Given the description of an element on the screen output the (x, y) to click on. 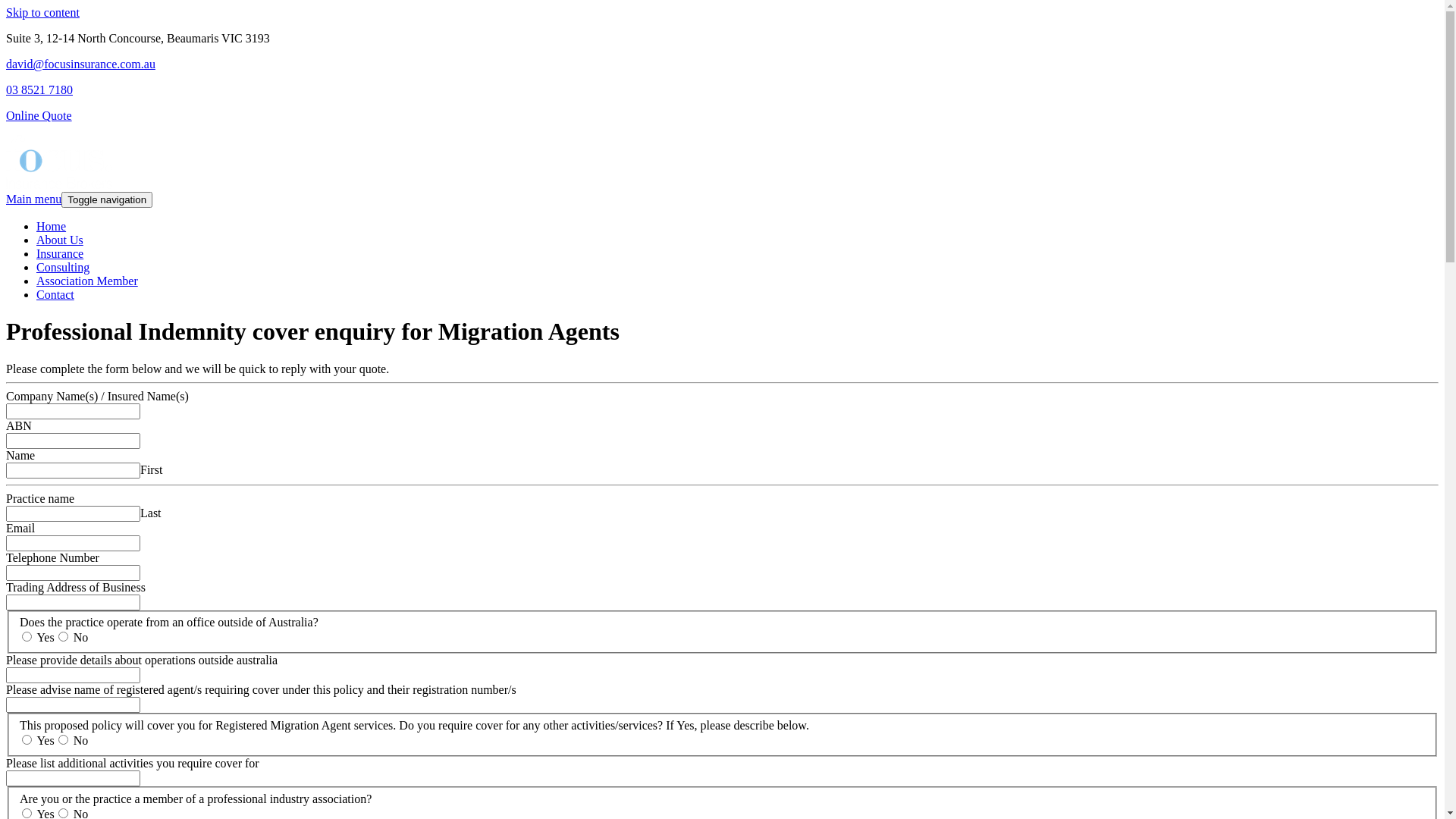
Contact Element type: text (55, 294)
Toggle navigation Element type: text (106, 199)
david@focusinsurance.com.au Element type: text (80, 63)
Association Member Element type: text (87, 280)
Insurance Element type: text (59, 253)
About Us Element type: text (59, 239)
Online Quote Element type: text (39, 115)
8521 7180 Element type: text (46, 89)
Consulting Element type: text (62, 266)
Skip to content Element type: text (42, 12)
Main menu Element type: text (33, 198)
Home Element type: text (50, 225)
03  Element type: text (13, 89)
